Given the description of an element on the screen output the (x, y) to click on. 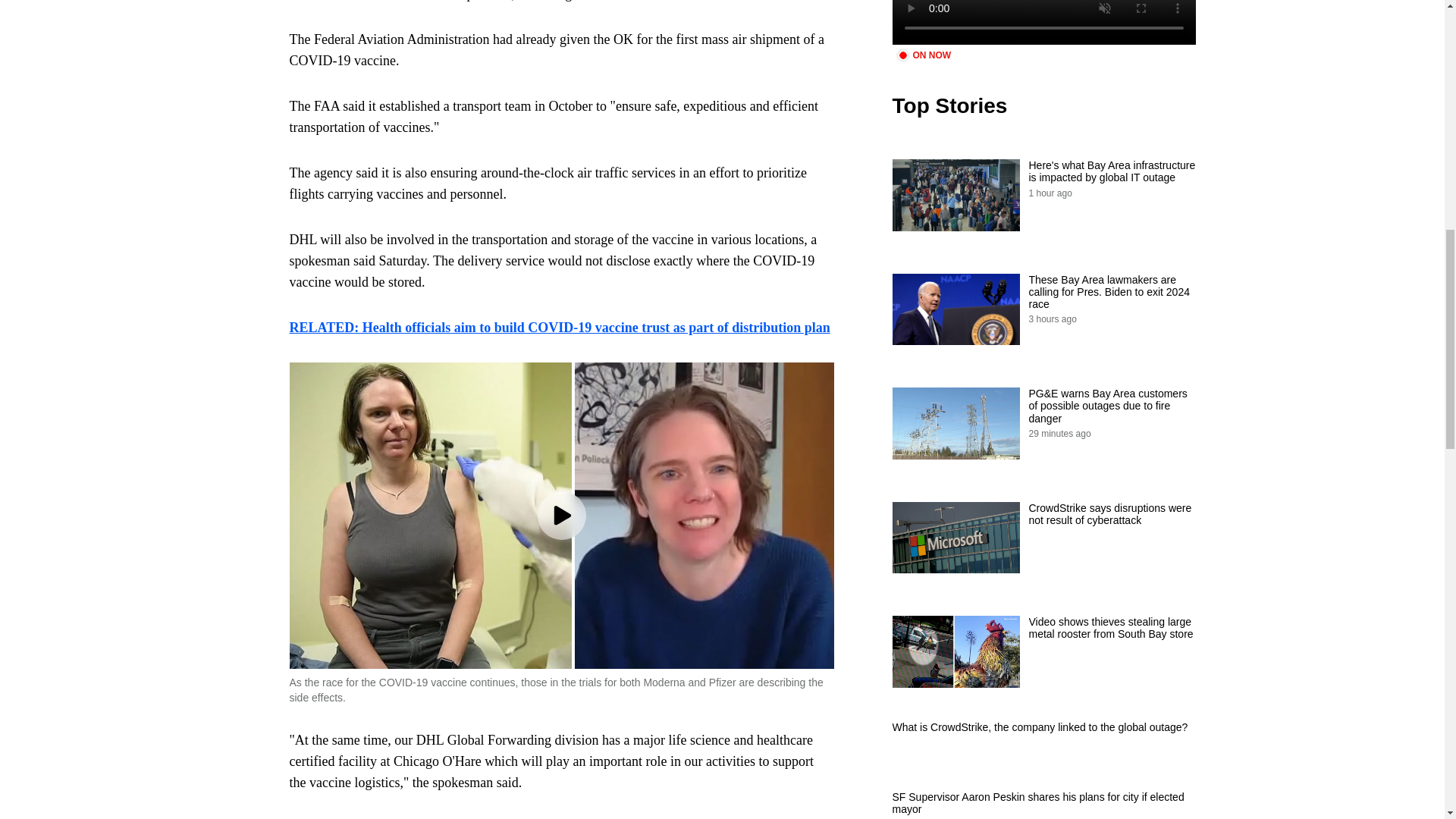
video.title (1043, 22)
